Given the description of an element on the screen output the (x, y) to click on. 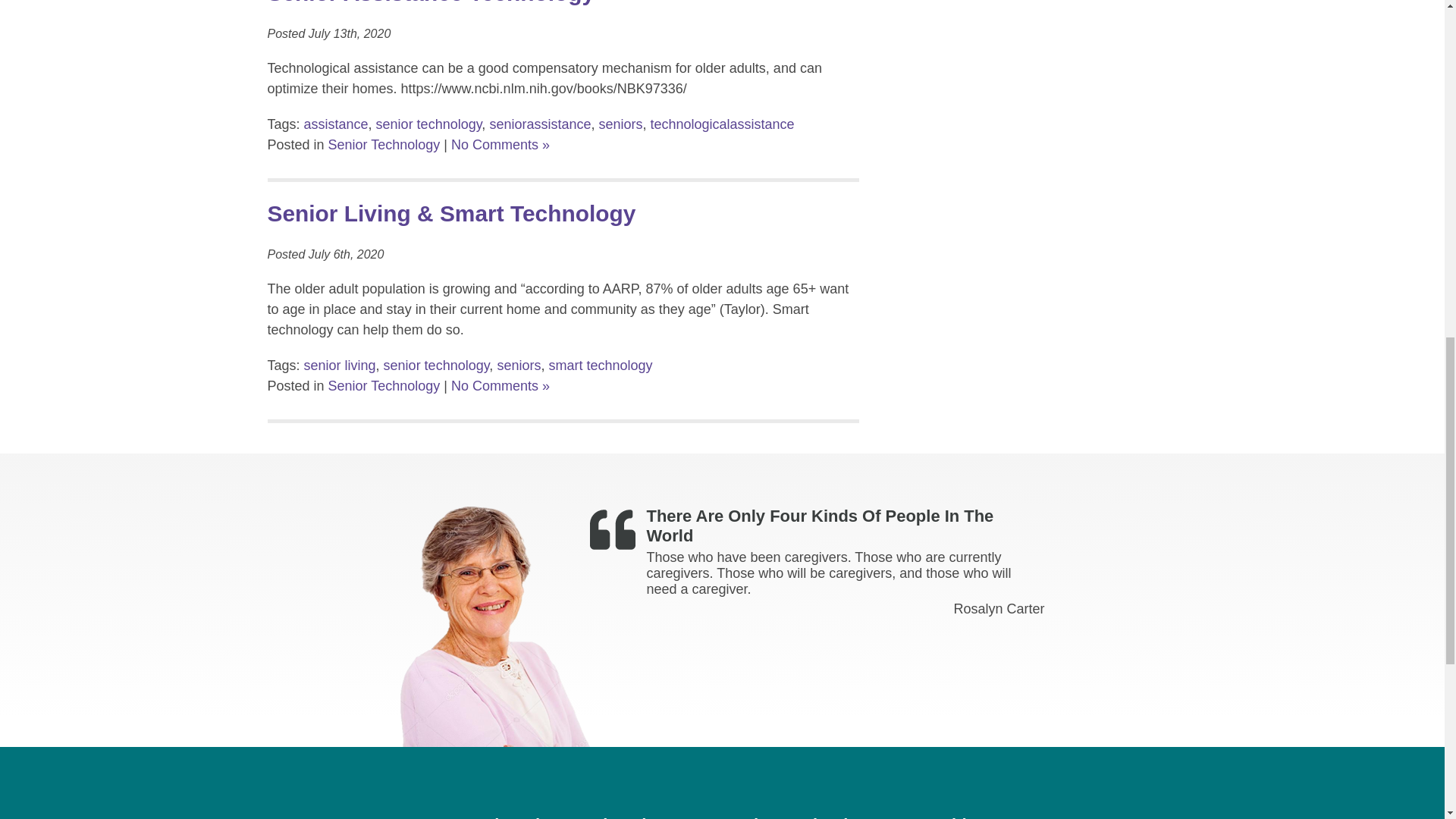
technologicalassistance (722, 124)
Senior Assistance Technology (430, 2)
seniors (620, 124)
seniors (518, 365)
senior technology (436, 365)
senior technology (428, 124)
assistance (336, 124)
seniorassistance (540, 124)
senior living (339, 365)
Senior Technology (385, 144)
